Given the description of an element on the screen output the (x, y) to click on. 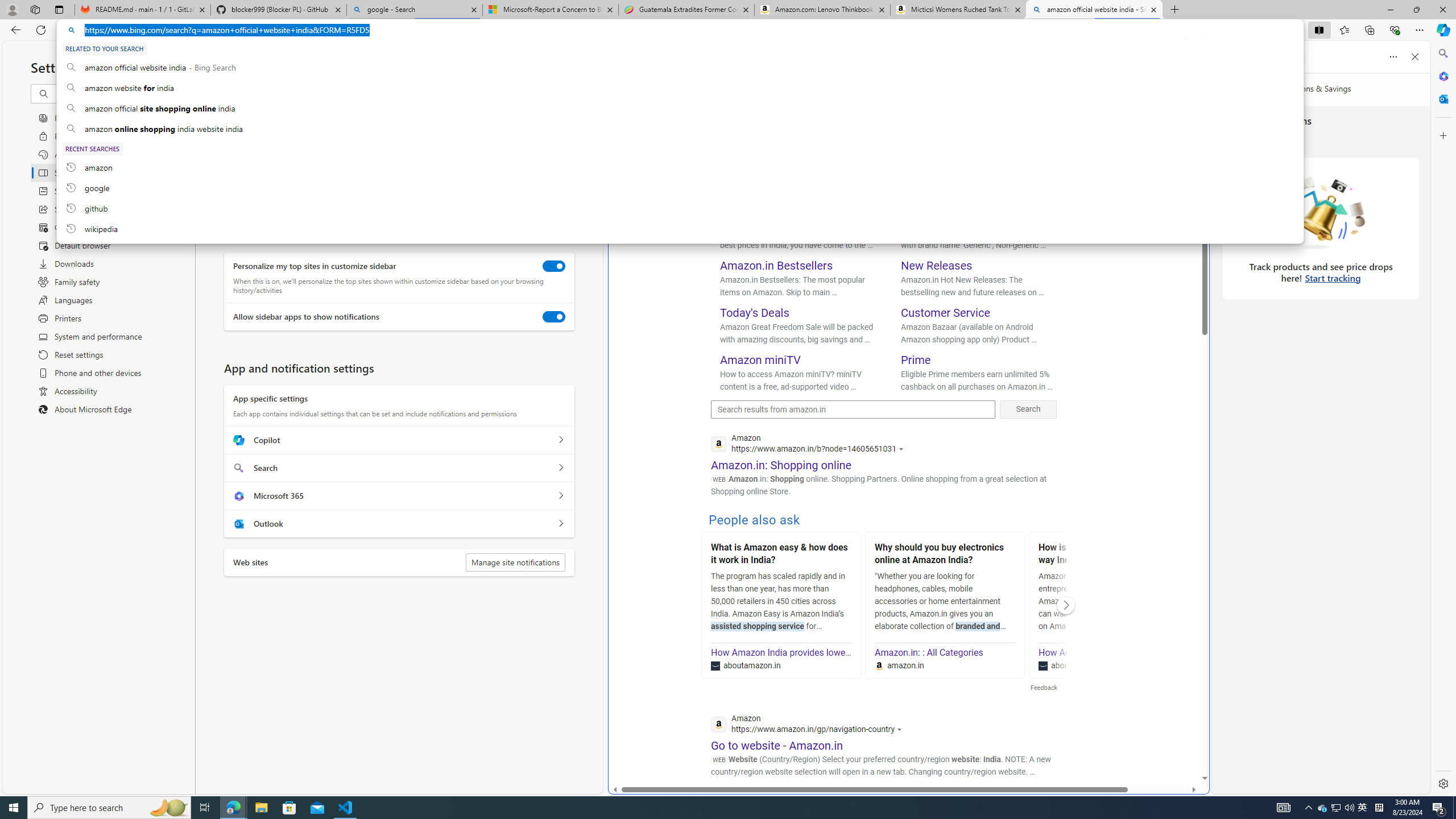
Personalize my top sites in customize sidebar (553, 265)
Today's Deals (754, 312)
Amazon.in: Shopping online (780, 464)
COPILOT (781, 98)
Mobile Phone (755, 218)
MAPS (915, 96)
NEWS (955, 98)
